Given the description of an element on the screen output the (x, y) to click on. 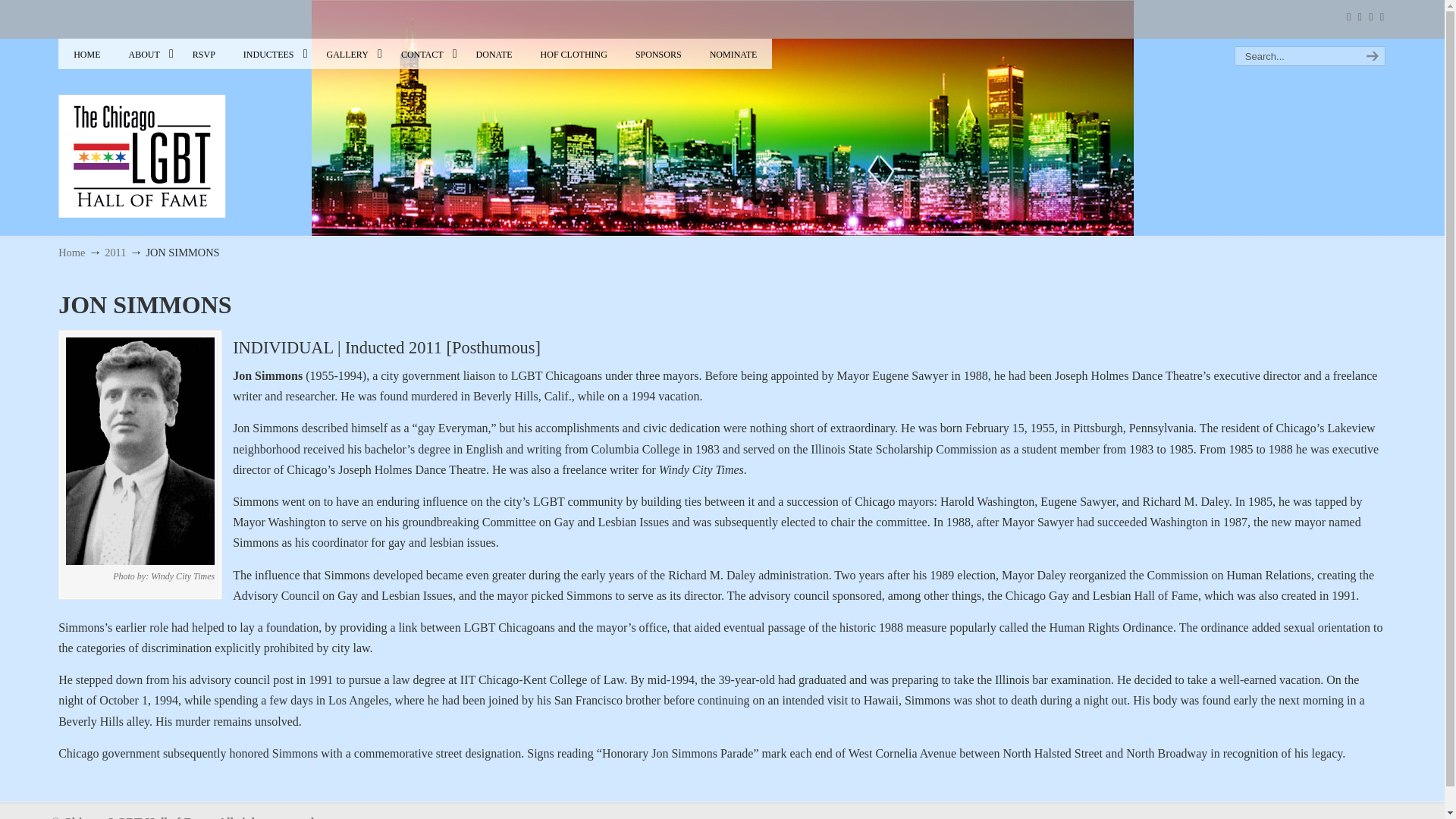
search (1370, 55)
Chicago LGBT Hall of Fame (141, 130)
NOMINATE (733, 54)
SPONSORS (658, 54)
RSVP (203, 54)
Chicago LGBT Hall of Fame (141, 130)
INDUCTEES (271, 54)
Search... (1294, 55)
CONTACT (424, 54)
search (1370, 55)
DONATE (494, 54)
2011 (114, 252)
HOME (86, 54)
search (1370, 55)
ABOUT (146, 54)
